Given the description of an element on the screen output the (x, y) to click on. 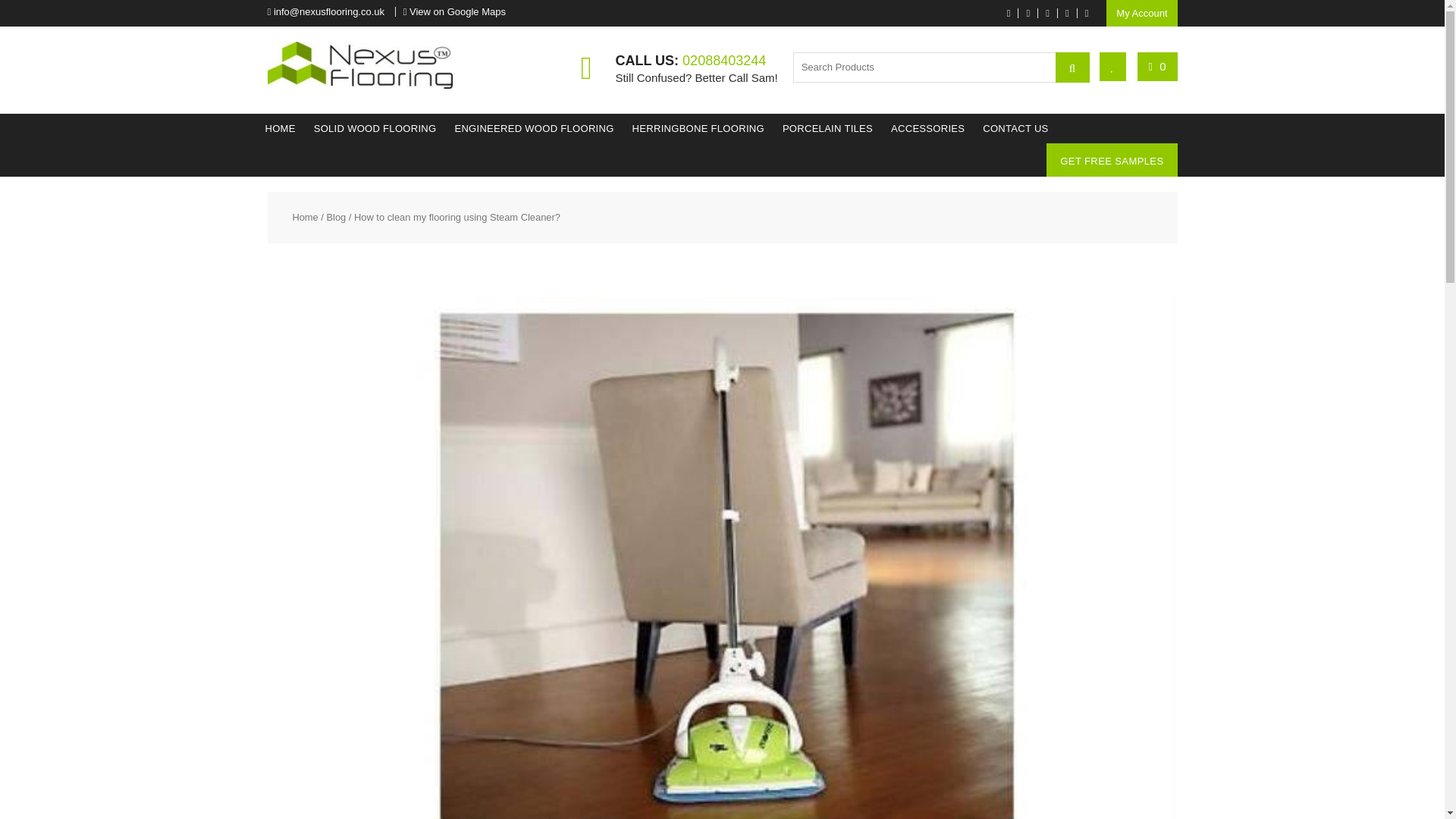
PORCELAIN TILES (827, 128)
ENGINEERED WOOD FLOORING (534, 128)
HOME (280, 128)
HERRINGBONE FLOORING (698, 128)
CALL US: 02088403244 (689, 60)
GET FREE SAMPLES (1111, 161)
SOLID WOOD FLOORING (374, 128)
My Account (1141, 13)
0 (1157, 65)
ACCESSORIES (928, 128)
View on Google Maps (457, 11)
CONTACT US (1015, 128)
